Given the description of an element on the screen output the (x, y) to click on. 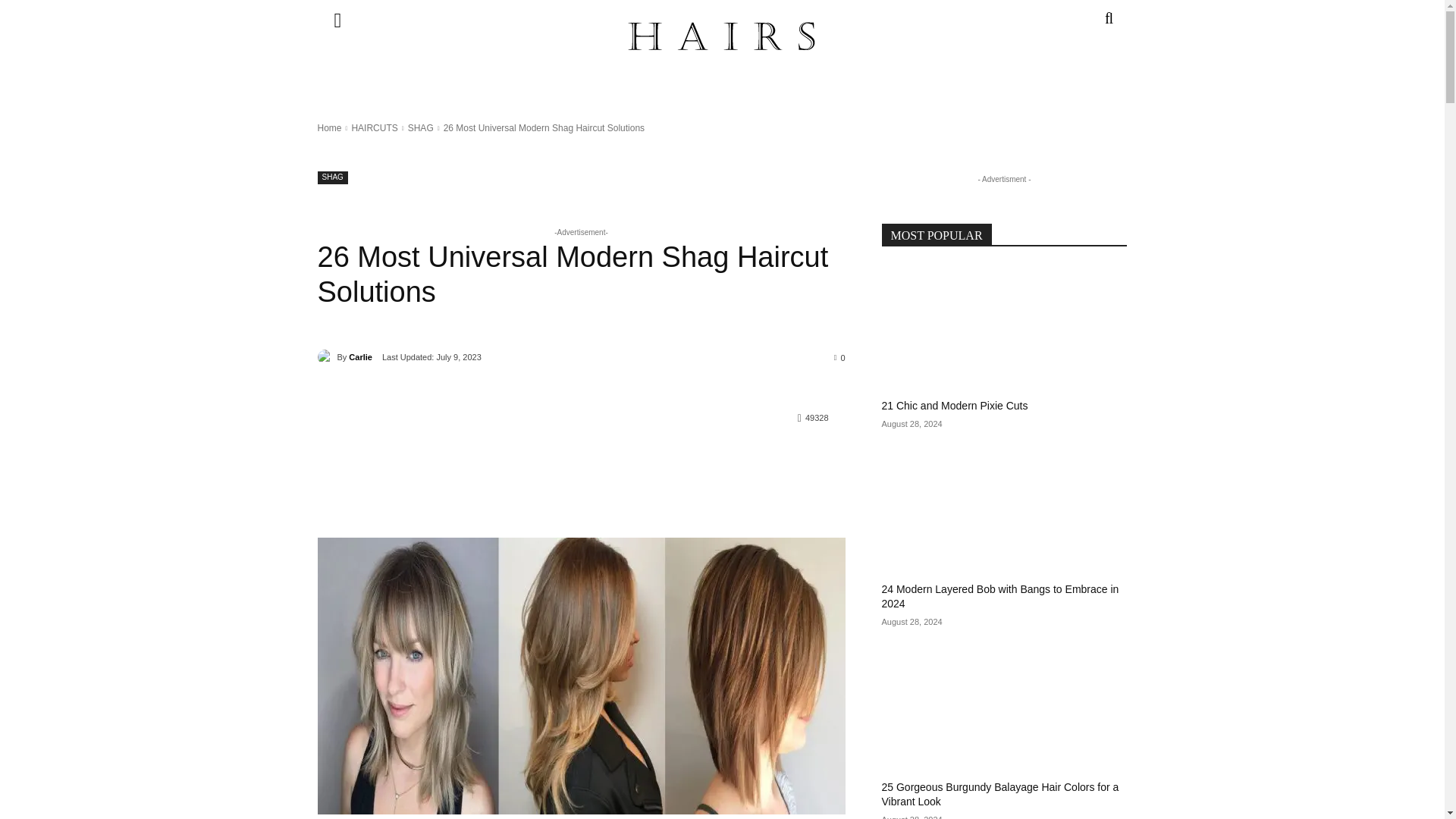
View all posts in HAIRCUTS (373, 127)
Carlie (326, 356)
View all posts in SHAG (420, 127)
